Given the description of an element on the screen output the (x, y) to click on. 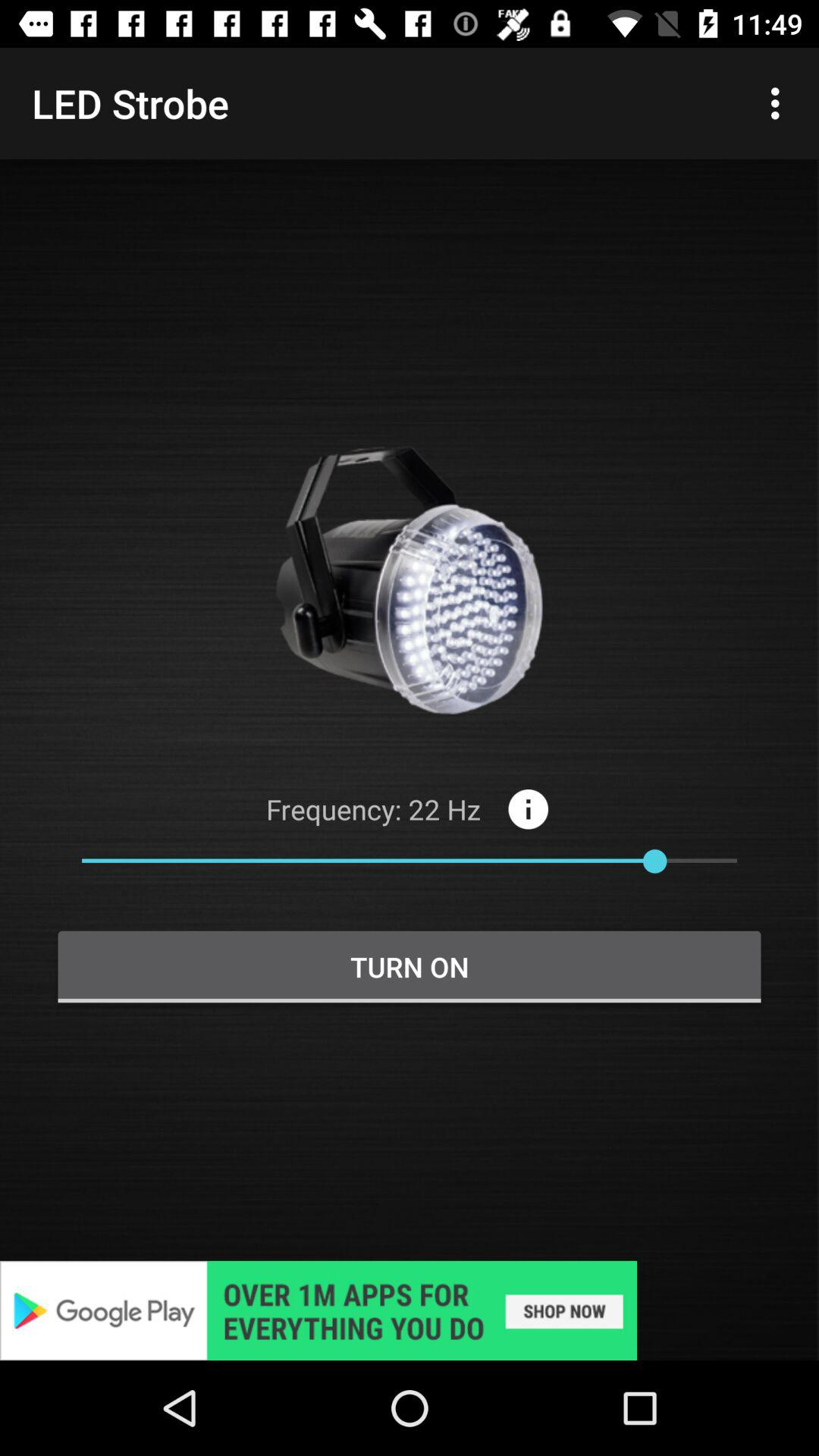
visit advertiser (409, 1310)
